Given the description of an element on the screen output the (x, y) to click on. 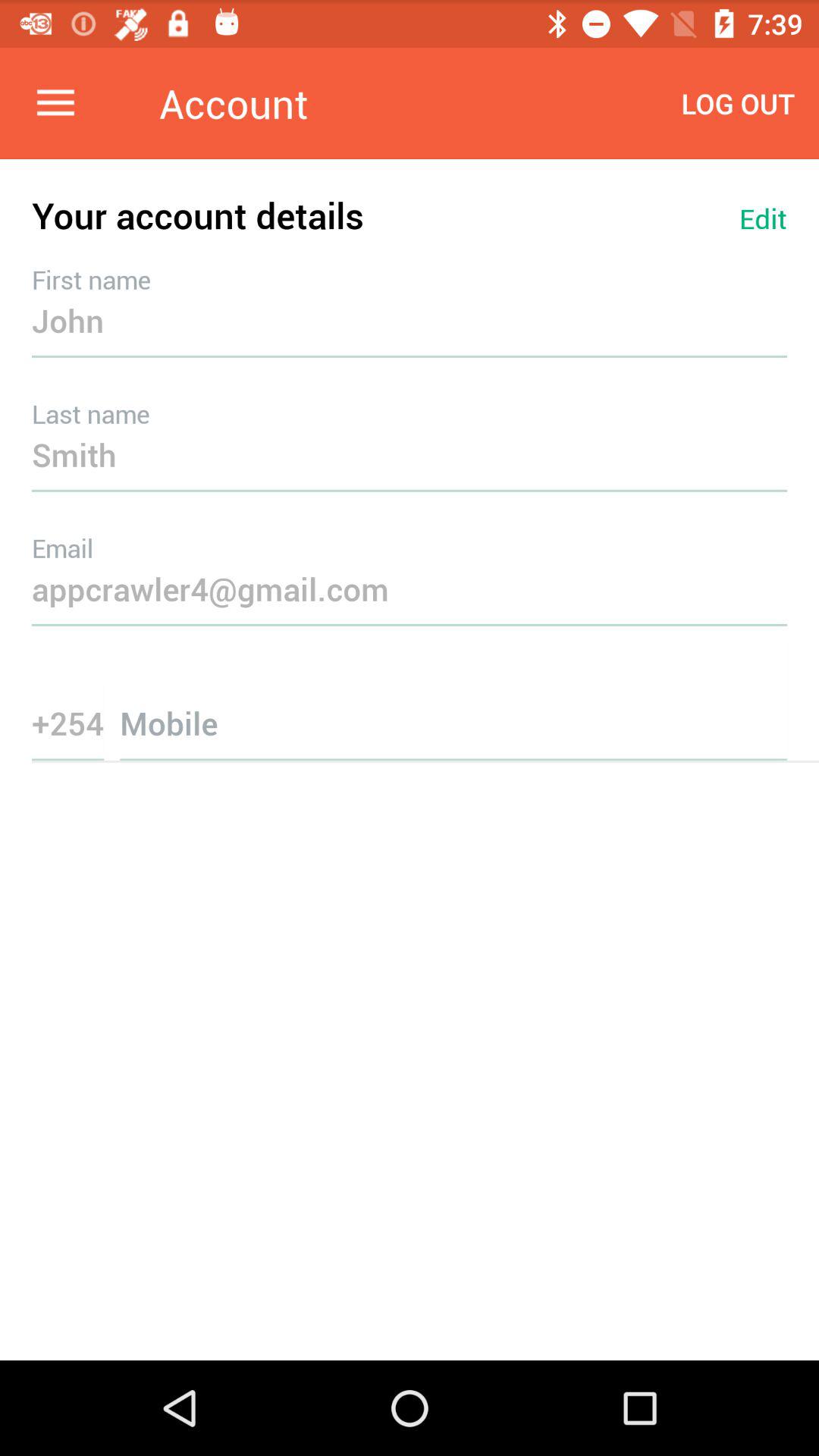
choose icon above your account details (55, 103)
